Given the description of an element on the screen output the (x, y) to click on. 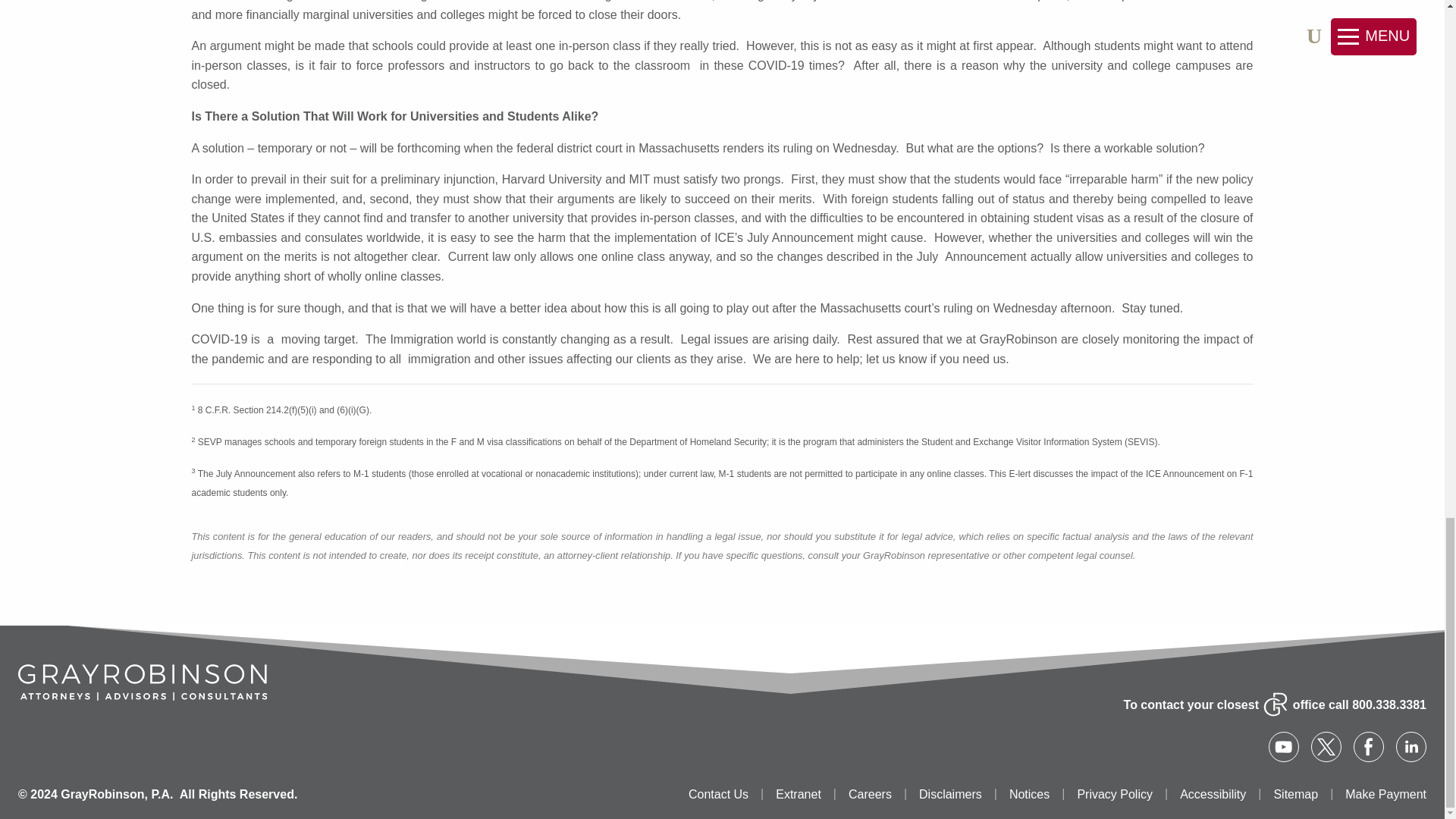
800.338.3381 (1389, 704)
Careers (869, 794)
Notices (1029, 794)
Extranet (798, 794)
Contact Us (718, 794)
Disclaimers (949, 794)
Privacy Policy (1115, 794)
Accessibility (1212, 794)
Make Payment (1385, 794)
Sitemap (1294, 794)
